Given the description of an element on the screen output the (x, y) to click on. 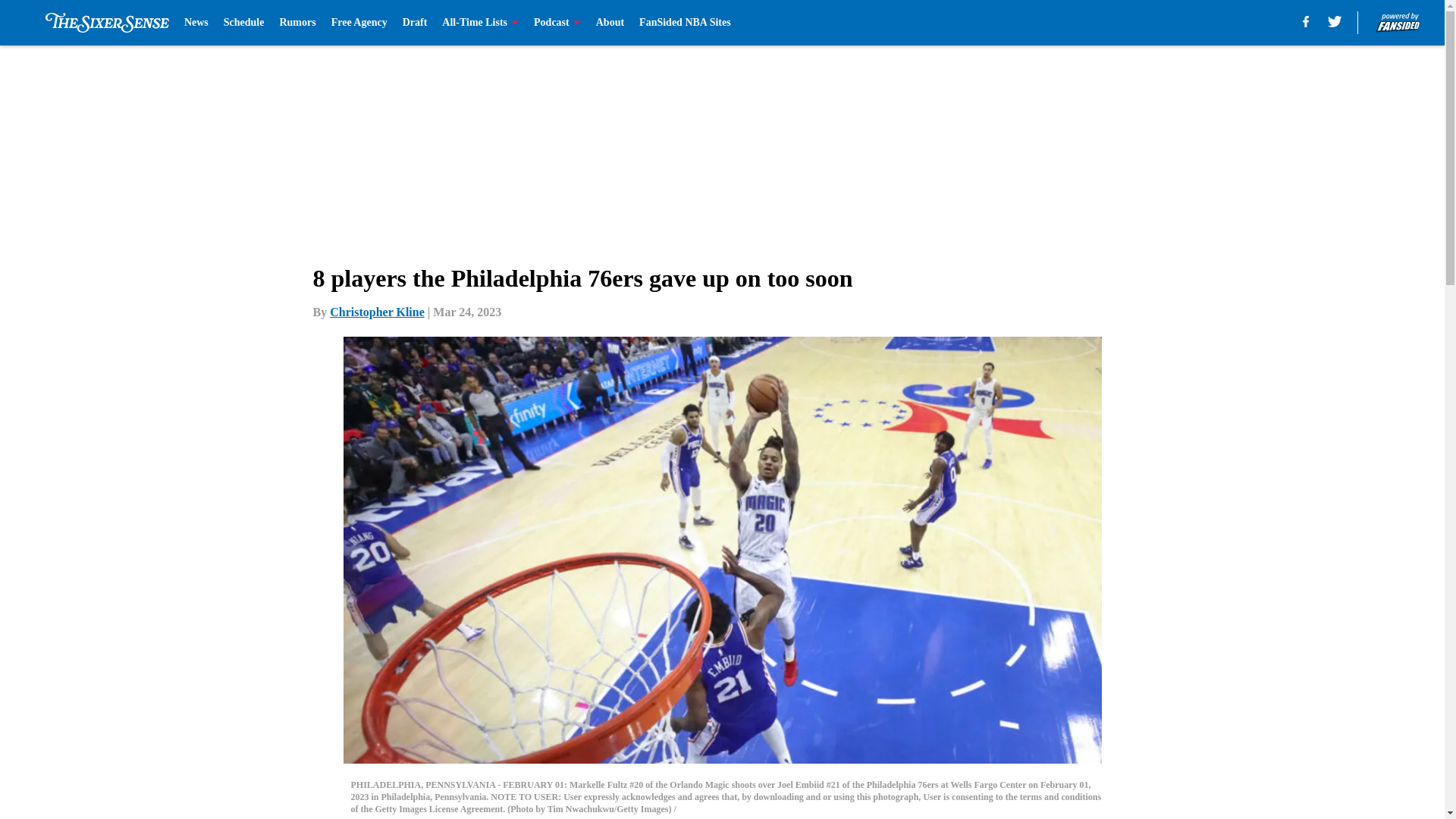
All-Time Lists (480, 22)
Draft (415, 22)
News (196, 22)
Free Agency (359, 22)
Christopher Kline (377, 311)
Rumors (297, 22)
About (609, 22)
Schedule (244, 22)
FanSided NBA Sites (684, 22)
